Given the description of an element on the screen output the (x, y) to click on. 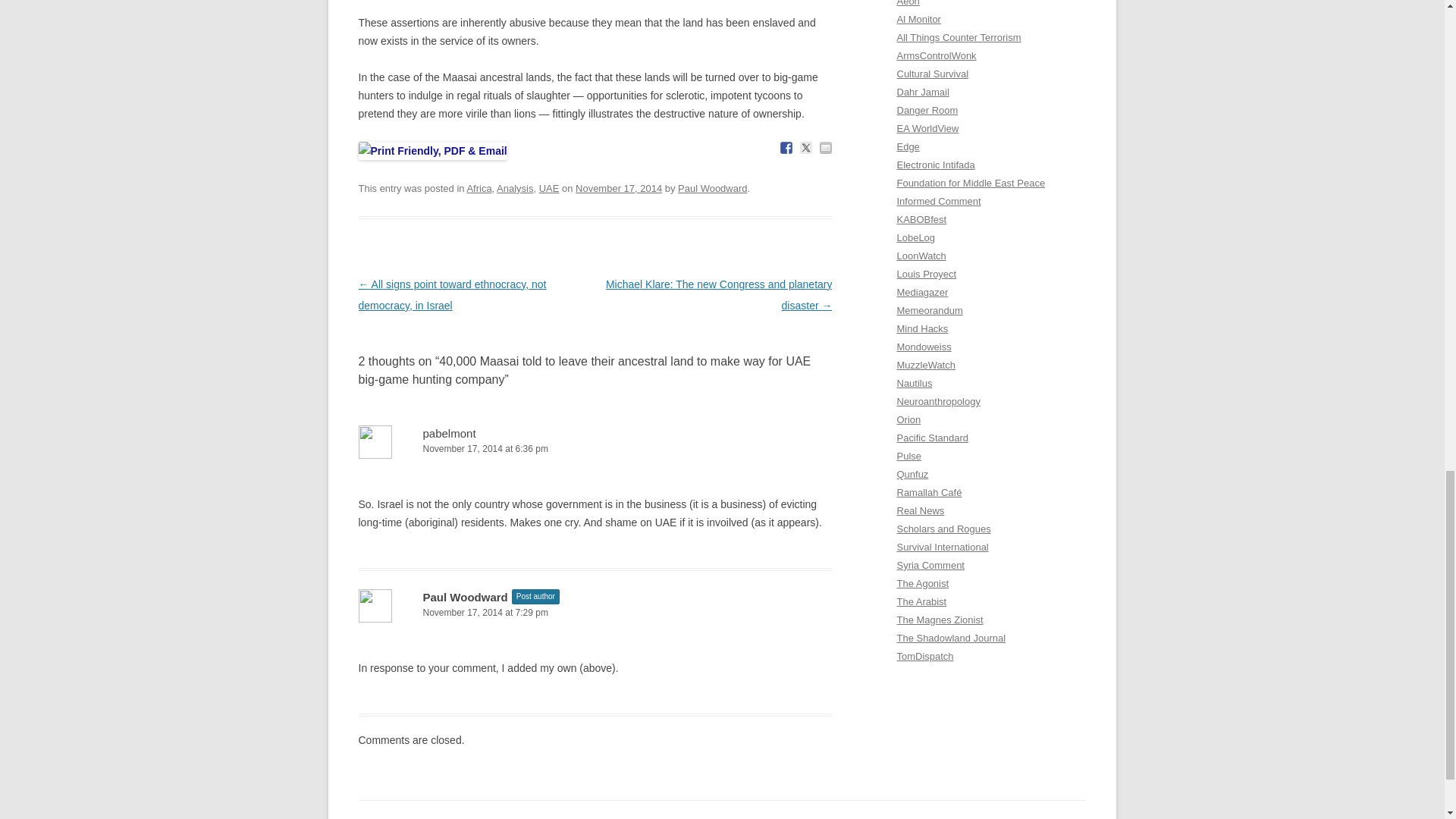
Africa (478, 188)
Share by email (825, 147)
Paul Woodward (712, 188)
Share on Facebook (786, 147)
November 17, 2014 (618, 188)
Jim Lobe and friends on foreign policy (915, 237)
Al Monitor (918, 19)
Aeon (907, 3)
Share on Twitter (805, 147)
